Given the description of an element on the screen output the (x, y) to click on. 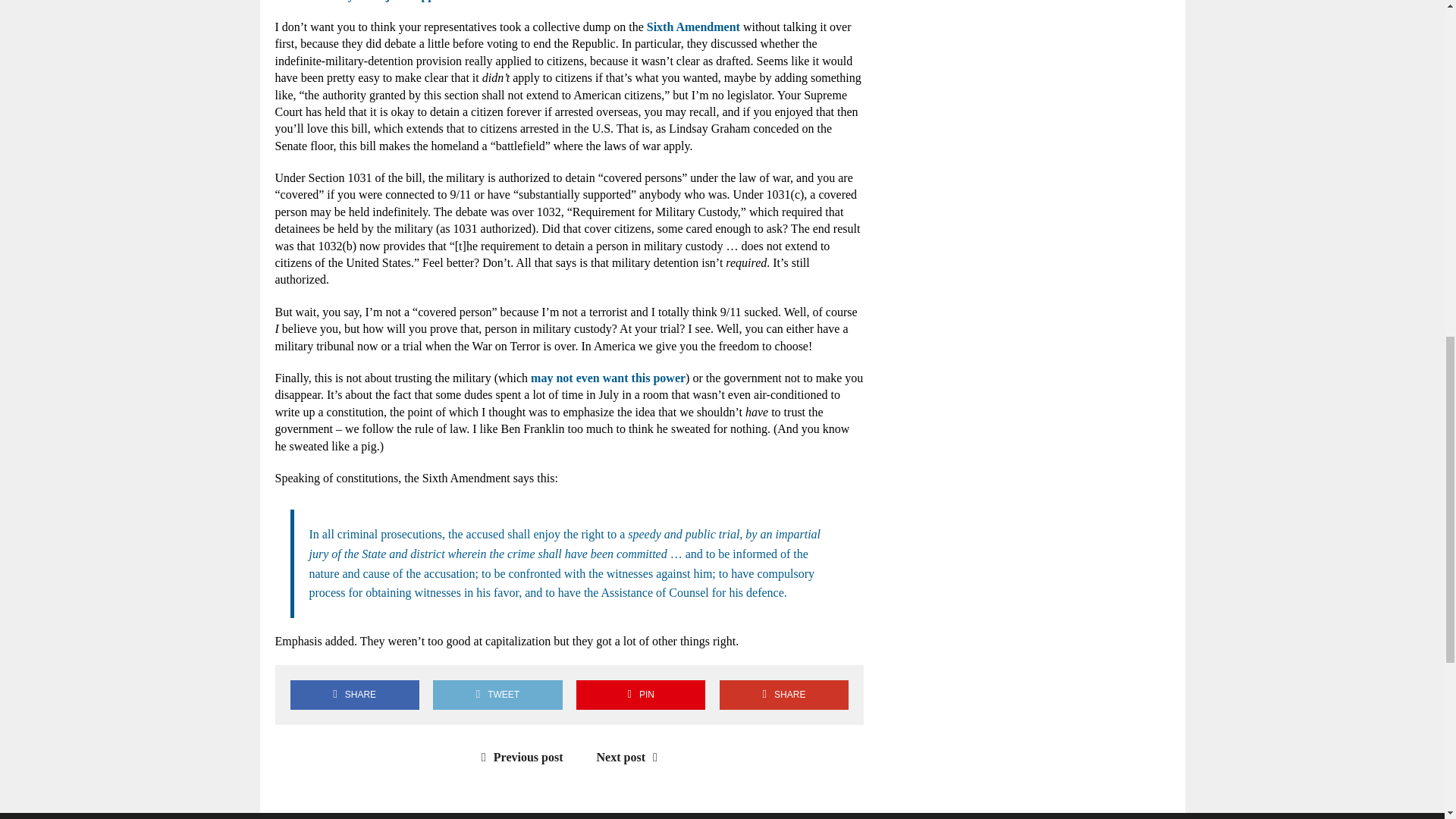
Pin This Post (640, 695)
Share on Facebook (354, 695)
Tweet This Post (497, 695)
